Given the description of an element on the screen output the (x, y) to click on. 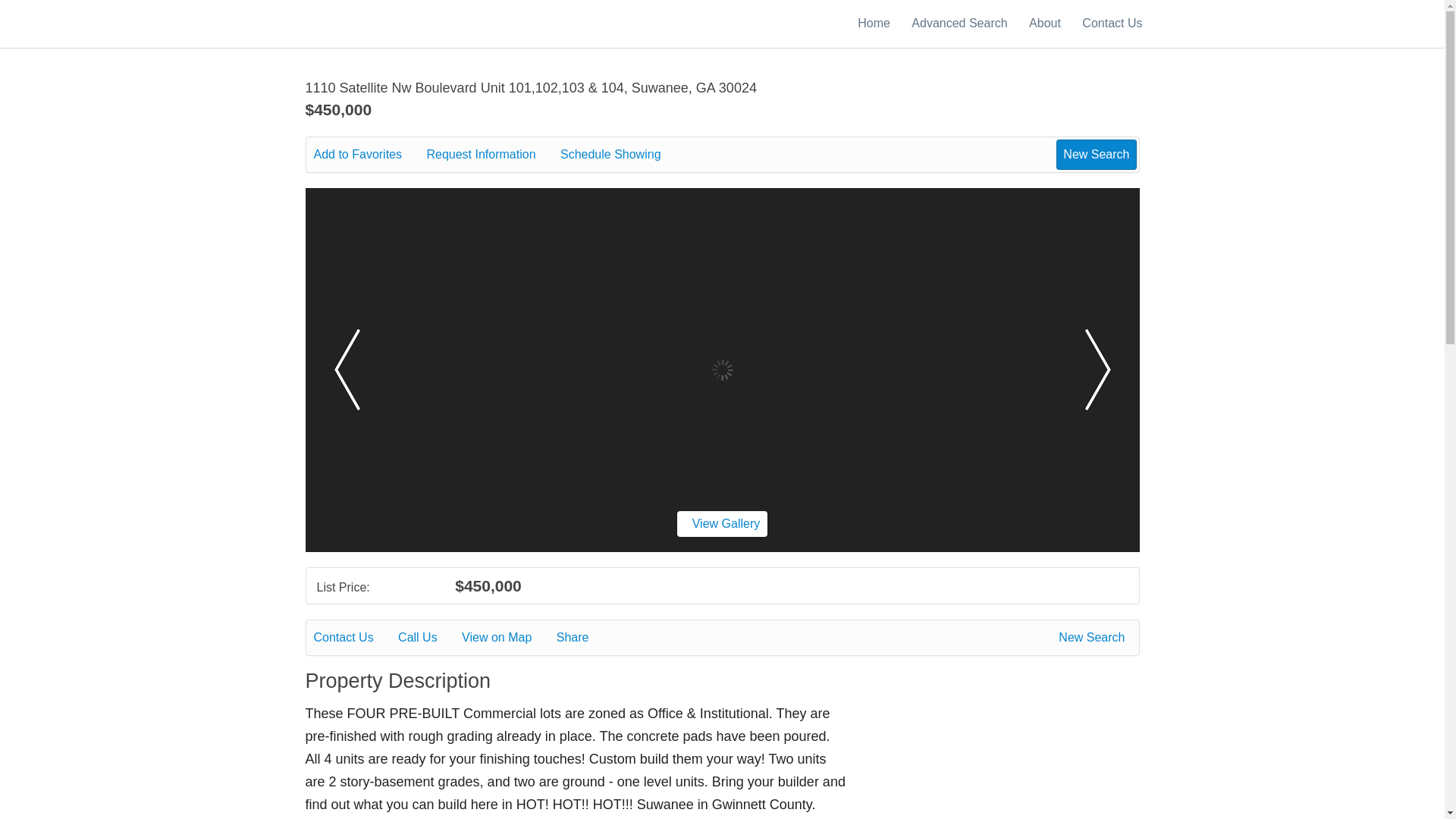
Contact Us (1111, 22)
View on Map (507, 637)
Call Us (427, 637)
View Gallery (722, 522)
Home (873, 22)
Contact Us (354, 637)
Add to Favorites (368, 154)
Schedule Showing (621, 154)
View Gallery (722, 524)
Request Information (491, 154)
New Search (1094, 637)
Share (583, 637)
New Search (1096, 154)
About (1045, 22)
Advanced Search (959, 22)
